Given the description of an element on the screen output the (x, y) to click on. 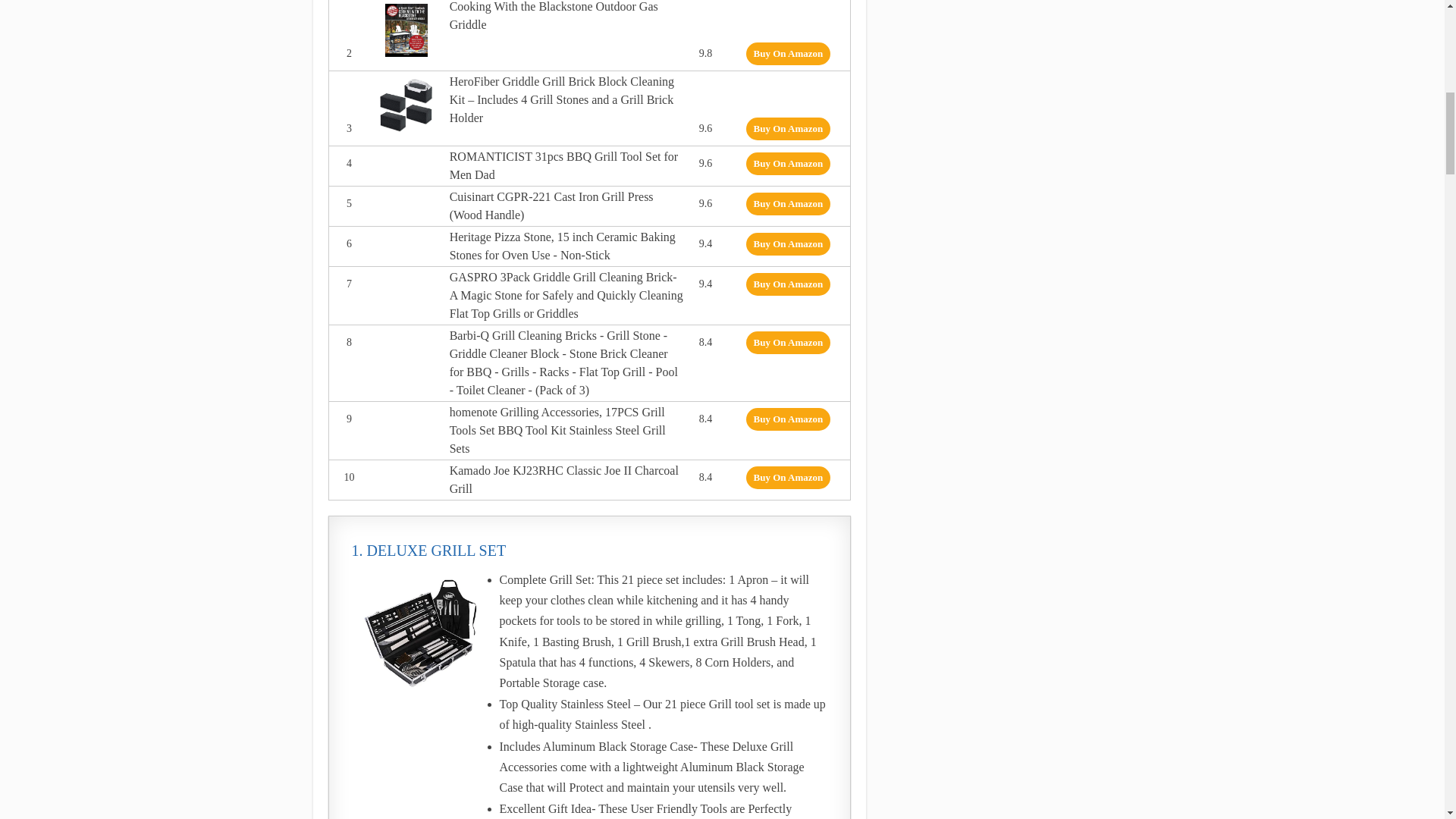
Buy On Amazon (788, 53)
Buy On Amazon (788, 342)
Buy On Amazon (788, 418)
Buy On Amazon (788, 283)
Buy On Amazon (788, 128)
Buy On Amazon (788, 203)
Buy On Amazon (788, 163)
Buy On Amazon (788, 477)
Buy On Amazon (788, 243)
